Given the description of an element on the screen output the (x, y) to click on. 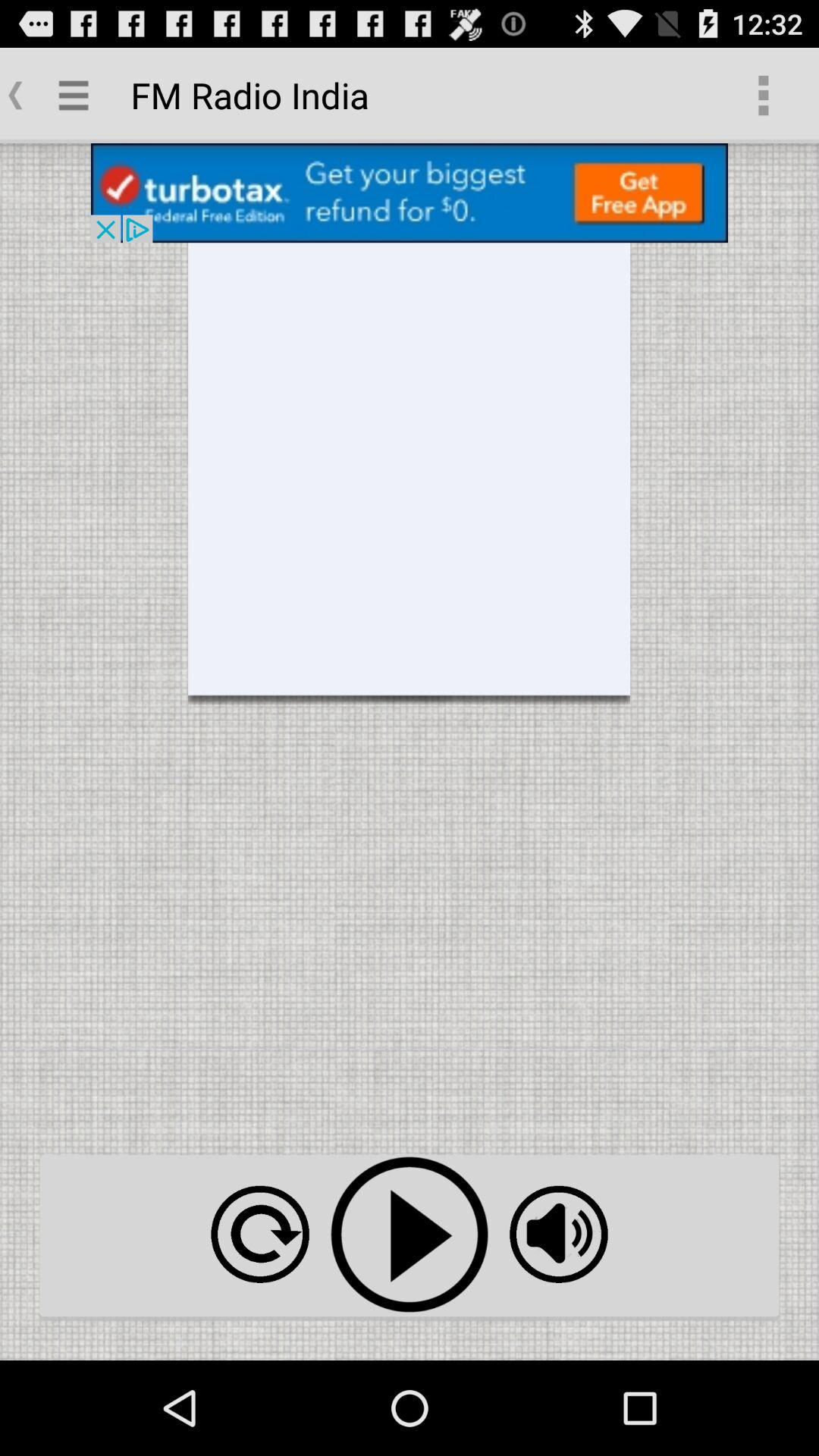
open advertisement (409, 192)
